Given the description of an element on the screen output the (x, y) to click on. 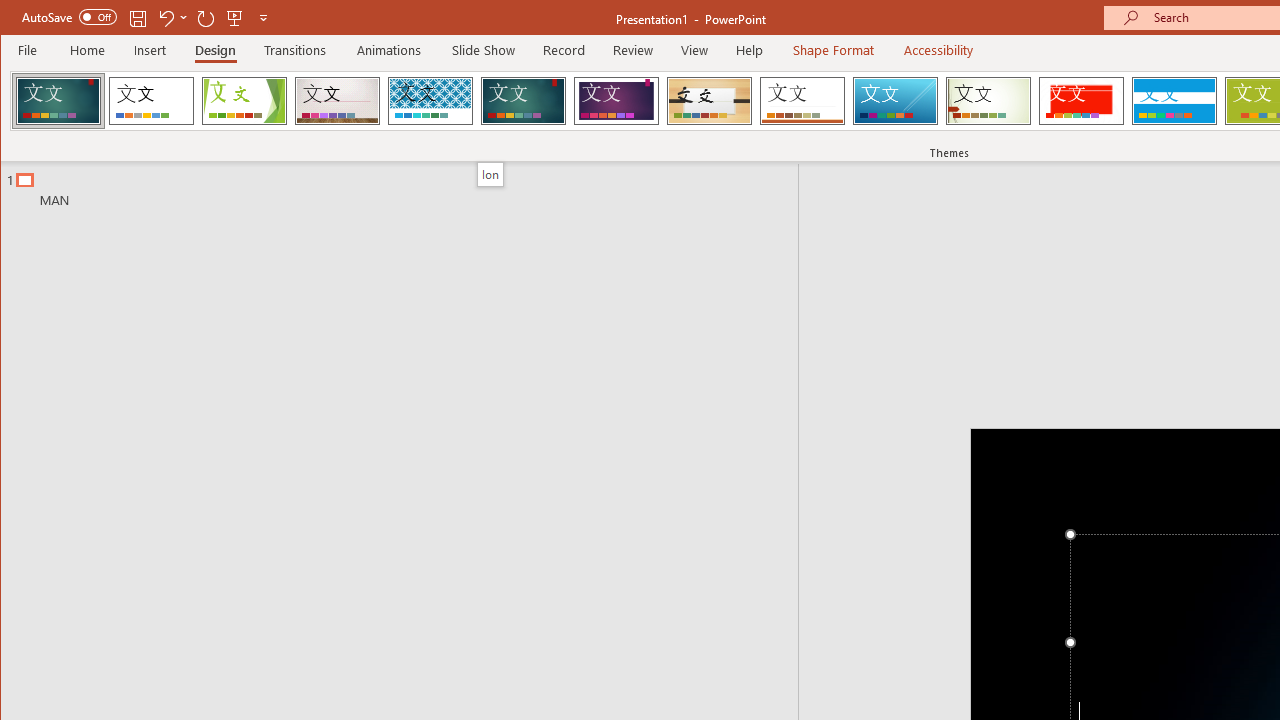
Organic (709, 100)
Ion Boardroom (616, 100)
Outline (408, 185)
Ion (523, 100)
Gallery (337, 100)
Insert (150, 50)
Design (215, 50)
